Given the description of an element on the screen output the (x, y) to click on. 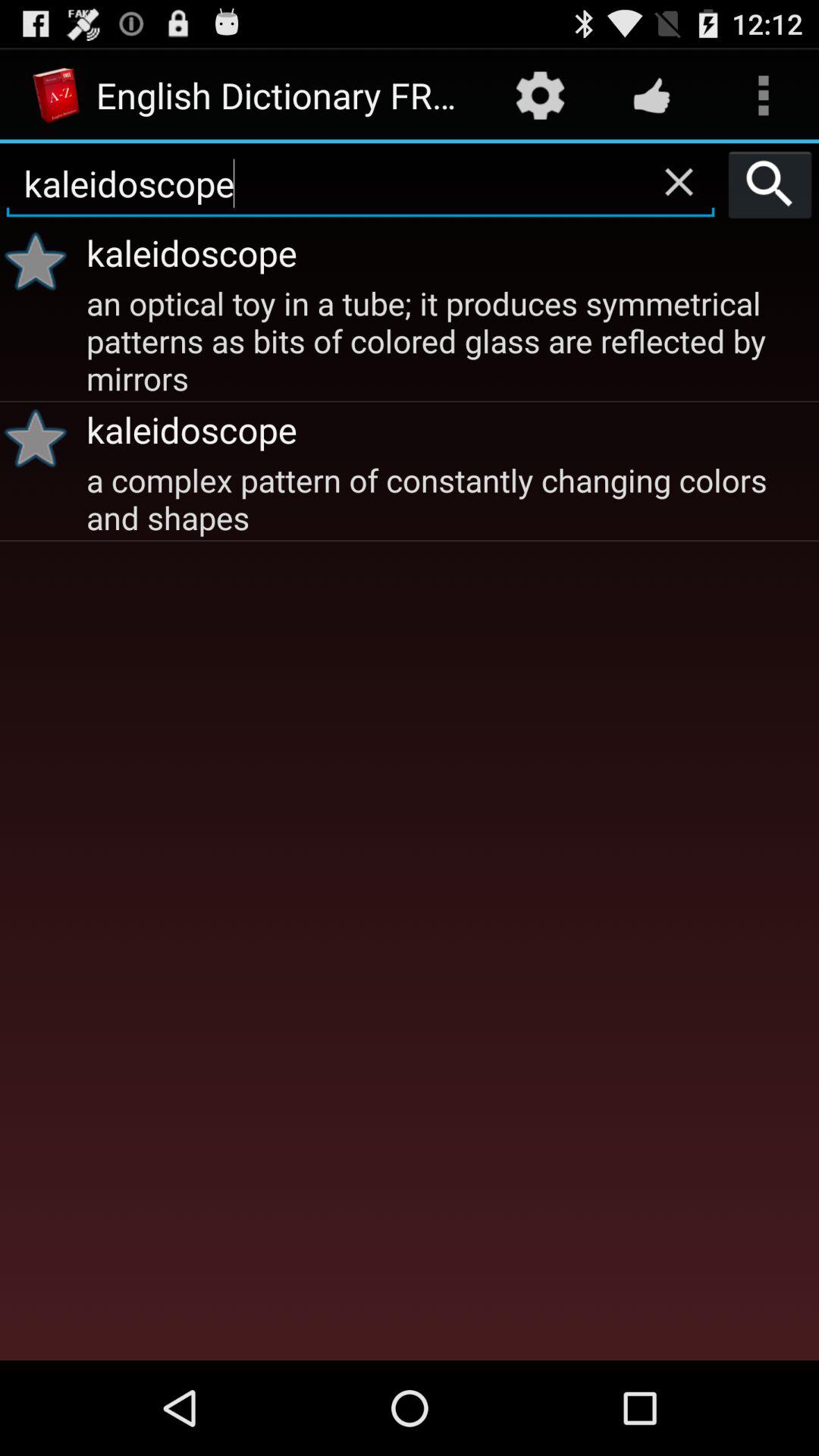
turn on the item next to the kaleidoscope app (41, 260)
